Given the description of an element on the screen output the (x, y) to click on. 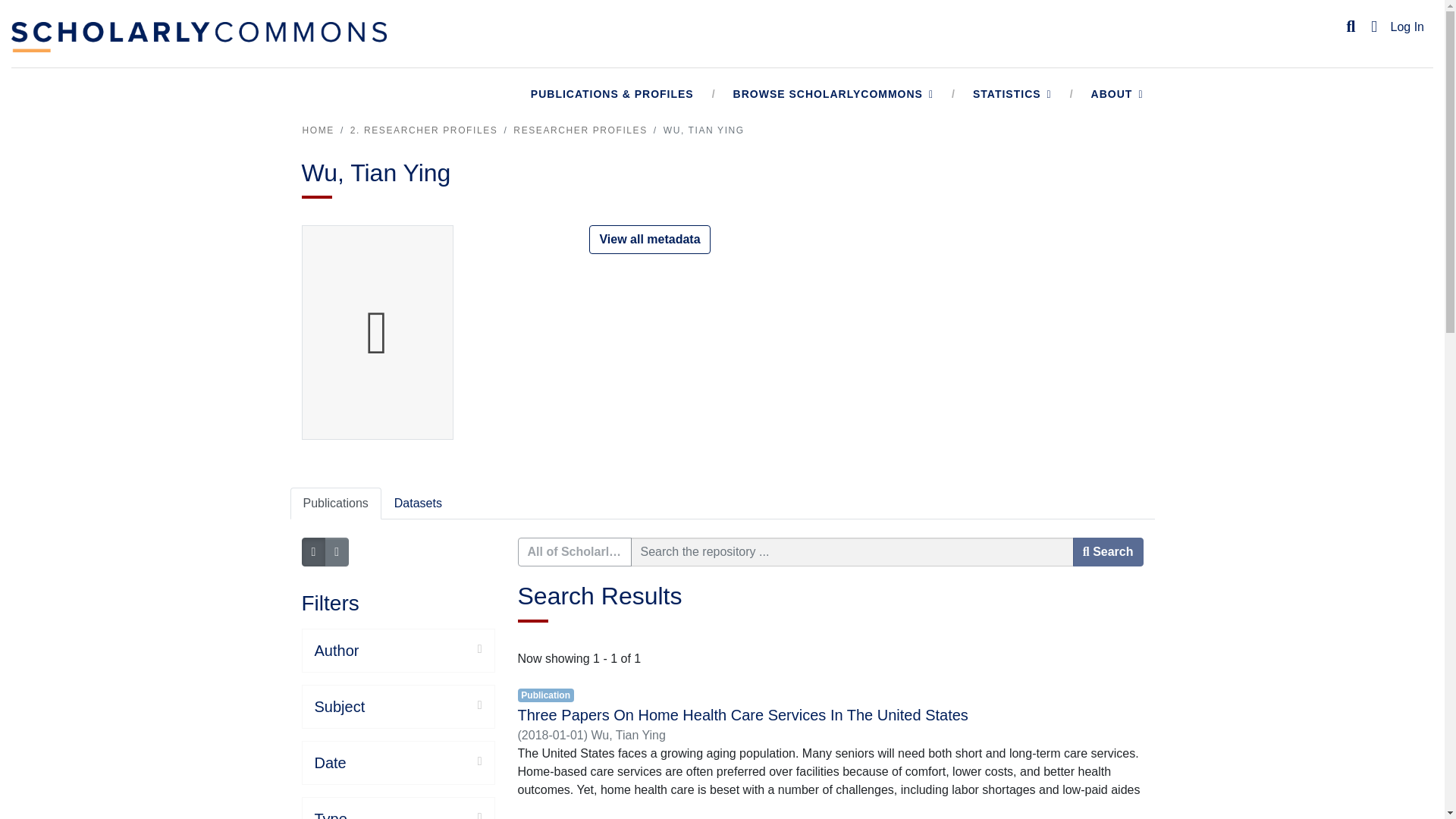
Expand filter (423, 705)
ABOUT (1117, 94)
Subject (397, 706)
All of ScholarlyCommons (573, 551)
HOME (317, 130)
Author (397, 650)
Search (1350, 27)
View all metadata (649, 239)
Language switch (1374, 27)
Expand filter (419, 648)
RESEARCHER PROFILES (579, 130)
Publications (334, 503)
BROWSE SCHOLARLYCOMMONS (833, 94)
Date (397, 762)
